Given the description of an element on the screen output the (x, y) to click on. 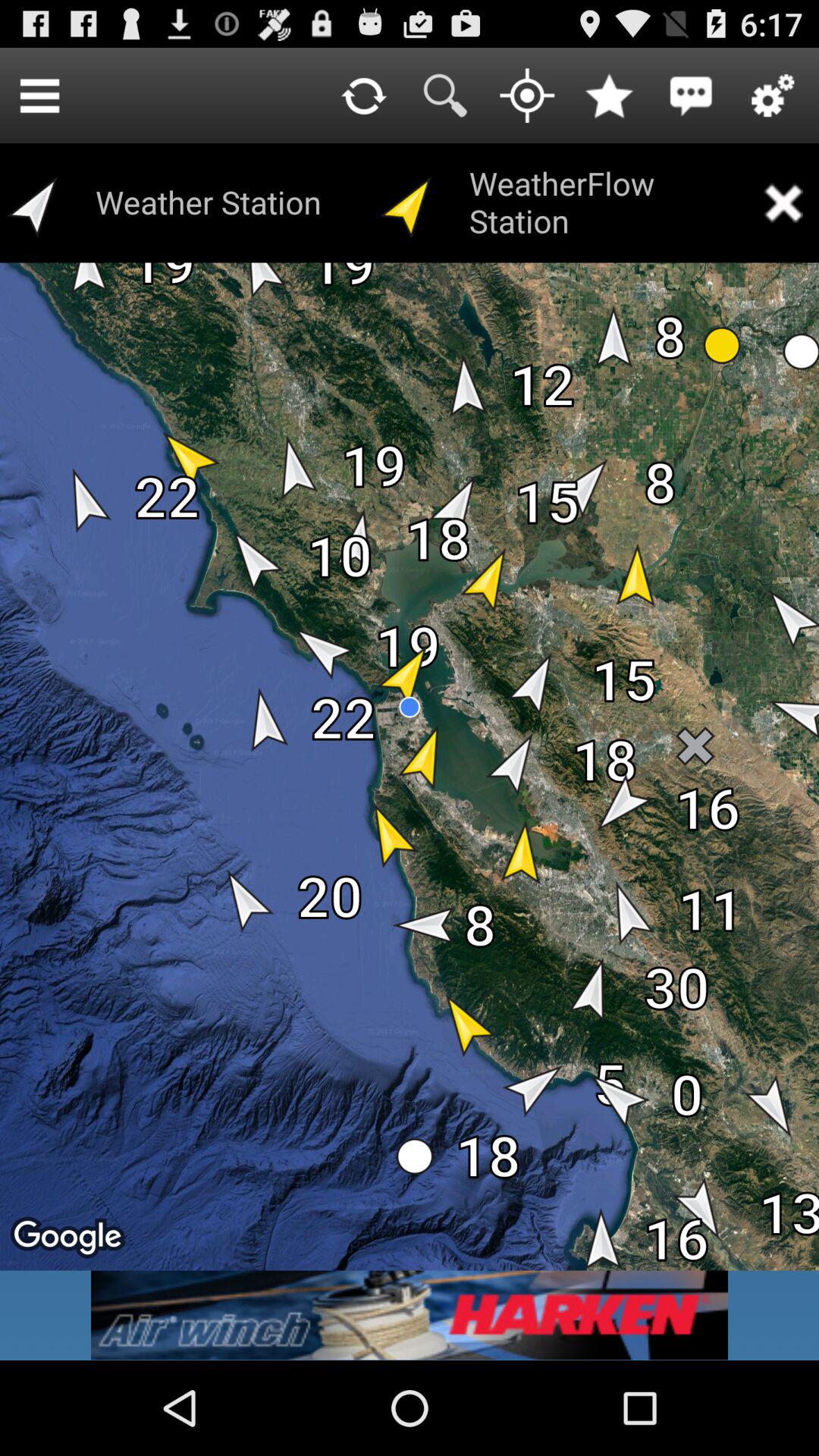
refresh input (363, 95)
